Given the description of an element on the screen output the (x, y) to click on. 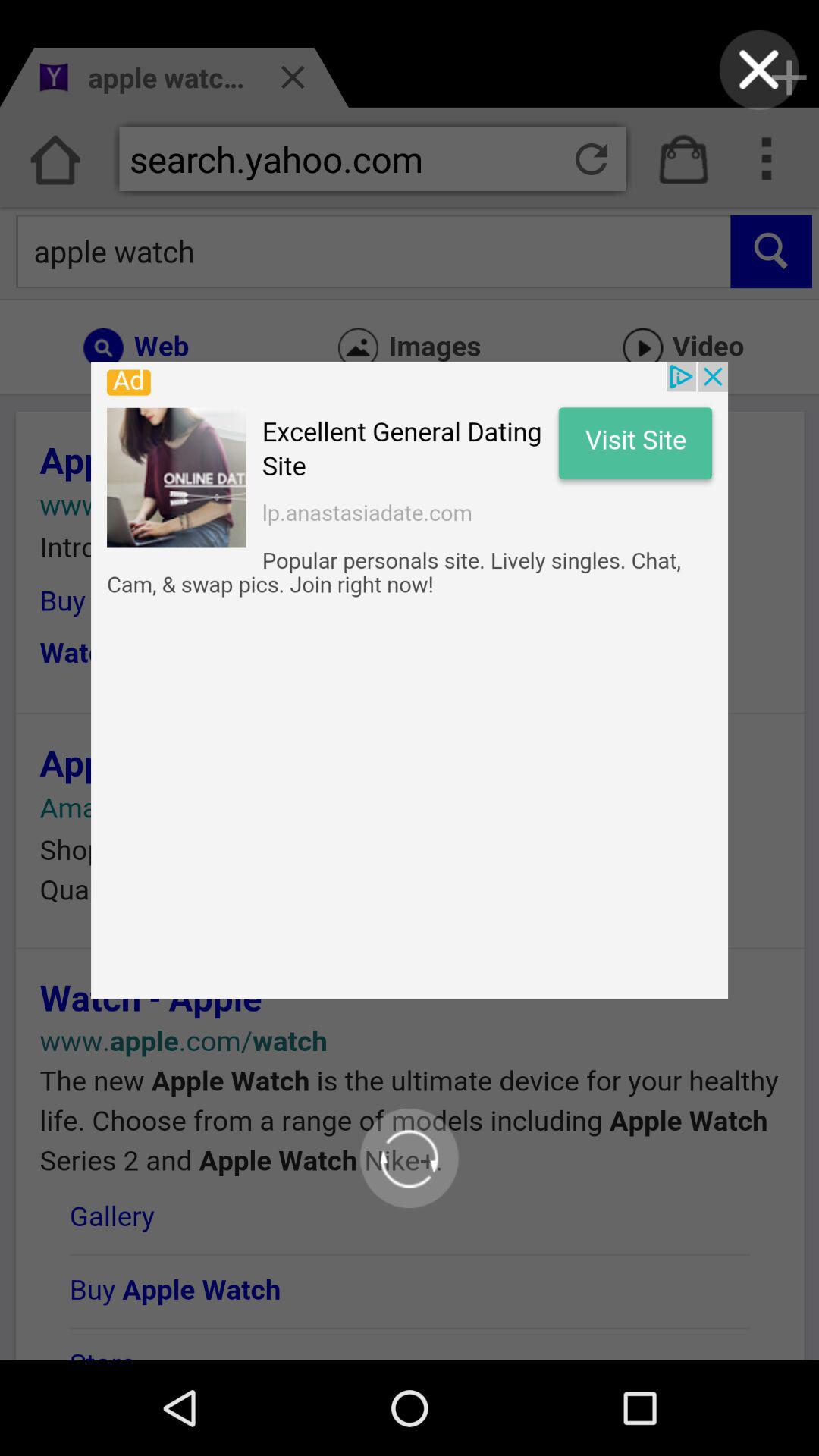
refreshes page (408, 1158)
